Given the description of an element on the screen output the (x, y) to click on. 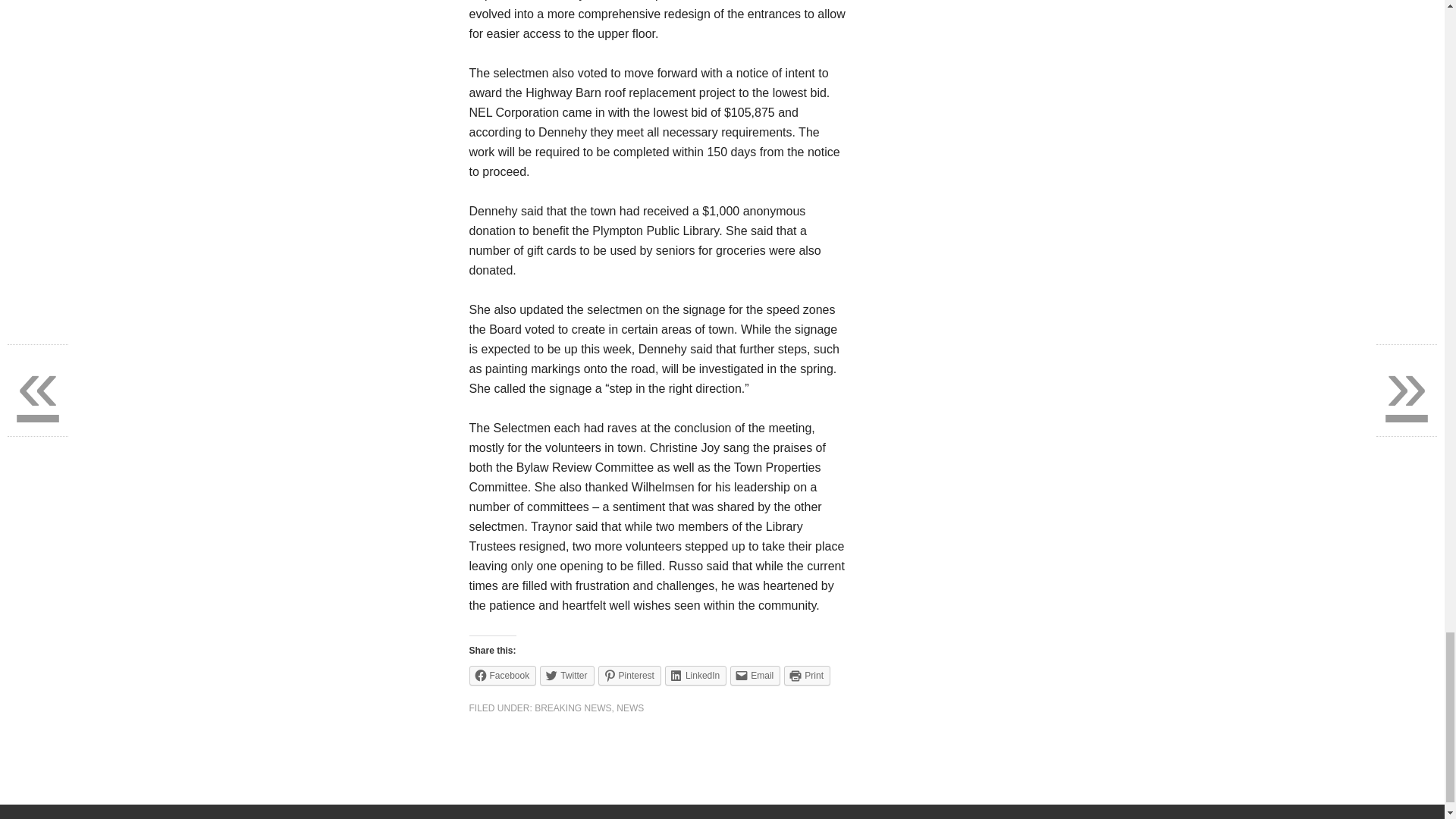
Click to share on Twitter (567, 675)
Click to email a link to a friend (755, 675)
Twitter (567, 675)
Click to share on Facebook (501, 675)
Pinterest (629, 675)
Click to print (806, 675)
Click to share on LinkedIn (695, 675)
LinkedIn (695, 675)
Email (755, 675)
NEWS (629, 707)
BREAKING NEWS (572, 707)
Facebook (501, 675)
Print (806, 675)
Click to share on Pinterest (629, 675)
